Given the description of an element on the screen output the (x, y) to click on. 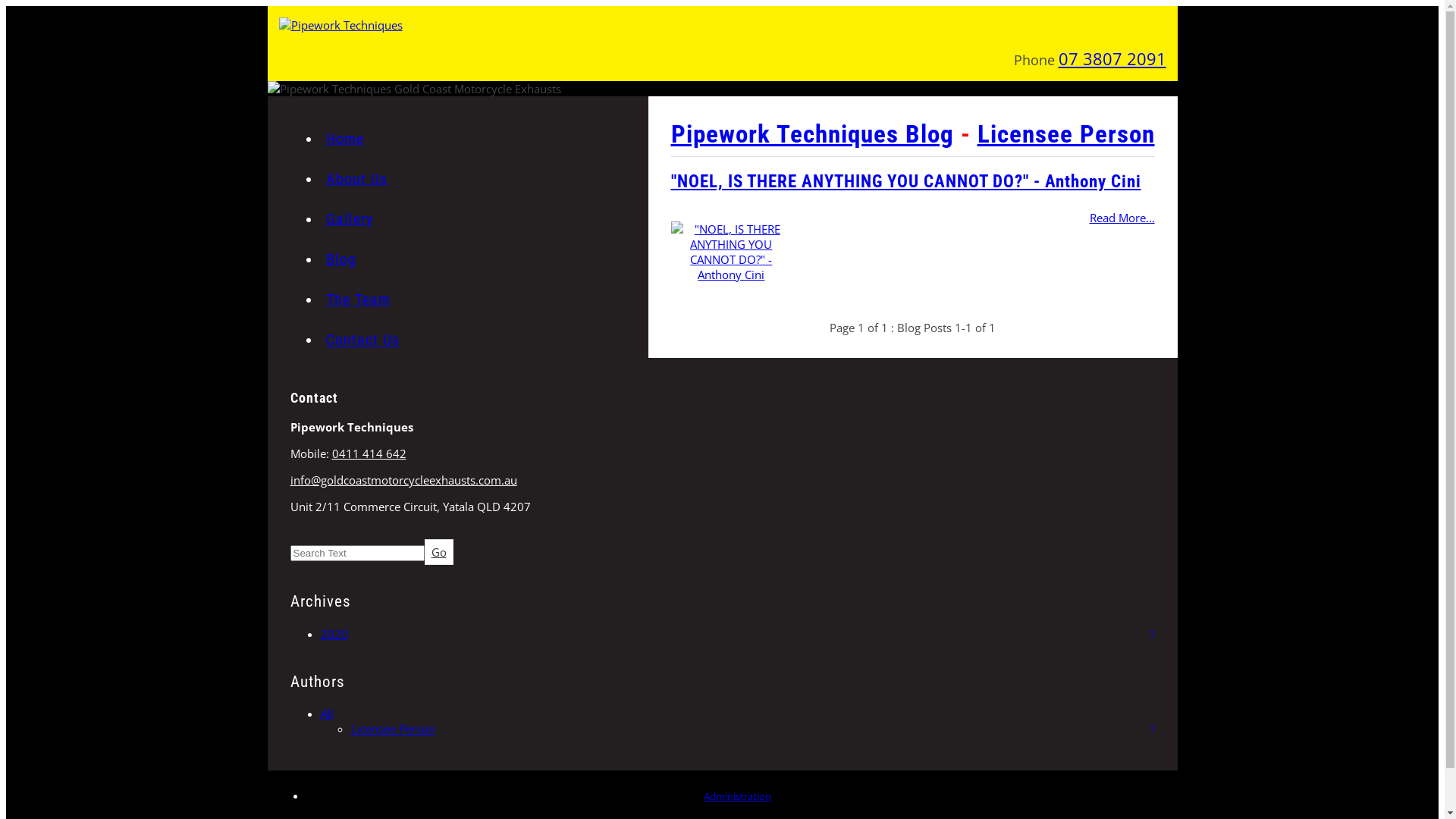
Go Element type: text (438, 551)
About Us Element type: text (356, 179)
0411 414 642 Element type: text (369, 453)
All Element type: text (326, 713)
Blog Element type: text (341, 259)
Pipework Techniques Blog Element type: text (811, 133)
The Team Element type: text (358, 299)
Home Element type: text (345, 138)
info@goldcoastmotorcycleexhausts.com.au Element type: text (721, 479)
Licensee Person Element type: text (392, 728)
2020 Element type: text (333, 633)
Licensee Person Element type: text (1065, 133)
Pipework Techniques Element type: hover (722, 24)
07 3807 2091 Element type: text (1112, 58)
Read More... Element type: text (912, 215)
Administration Element type: text (737, 796)
Gallery Element type: text (349, 219)
"NOEL, IS THERE ANYTHING YOU CANNOT DO?" - Anthony Cini Element type: text (905, 181)
Contact Us Element type: text (362, 339)
